Given the description of an element on the screen output the (x, y) to click on. 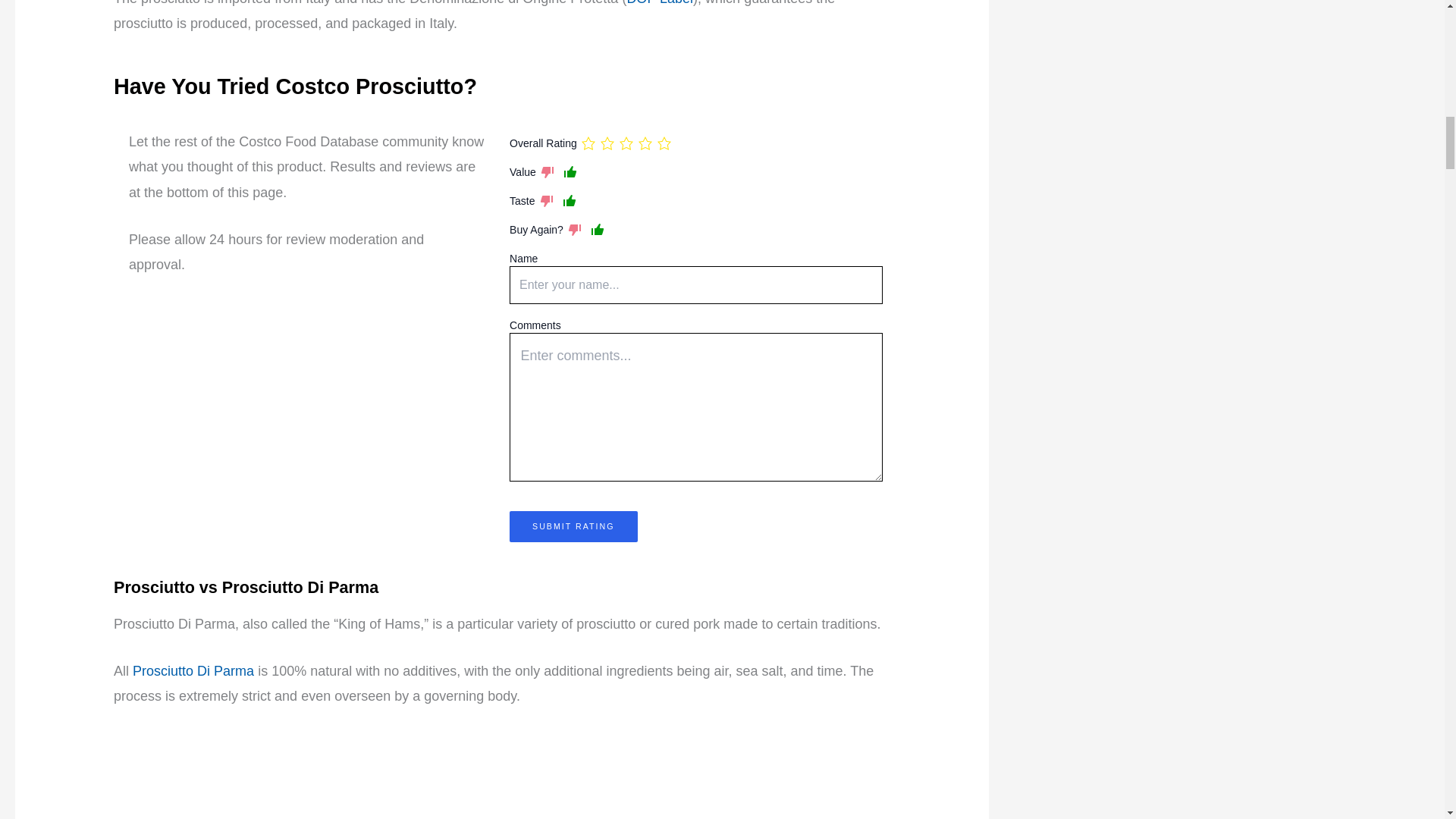
thumbs down (574, 229)
1 star (587, 142)
thumbs up (570, 171)
Prosciutto Di Parma (192, 670)
Submit Rating (573, 526)
2 stars (606, 142)
DOP Label (659, 2)
thumbs up (569, 200)
5 stars (663, 142)
3 stars (625, 142)
